Given the description of an element on the screen output the (x, y) to click on. 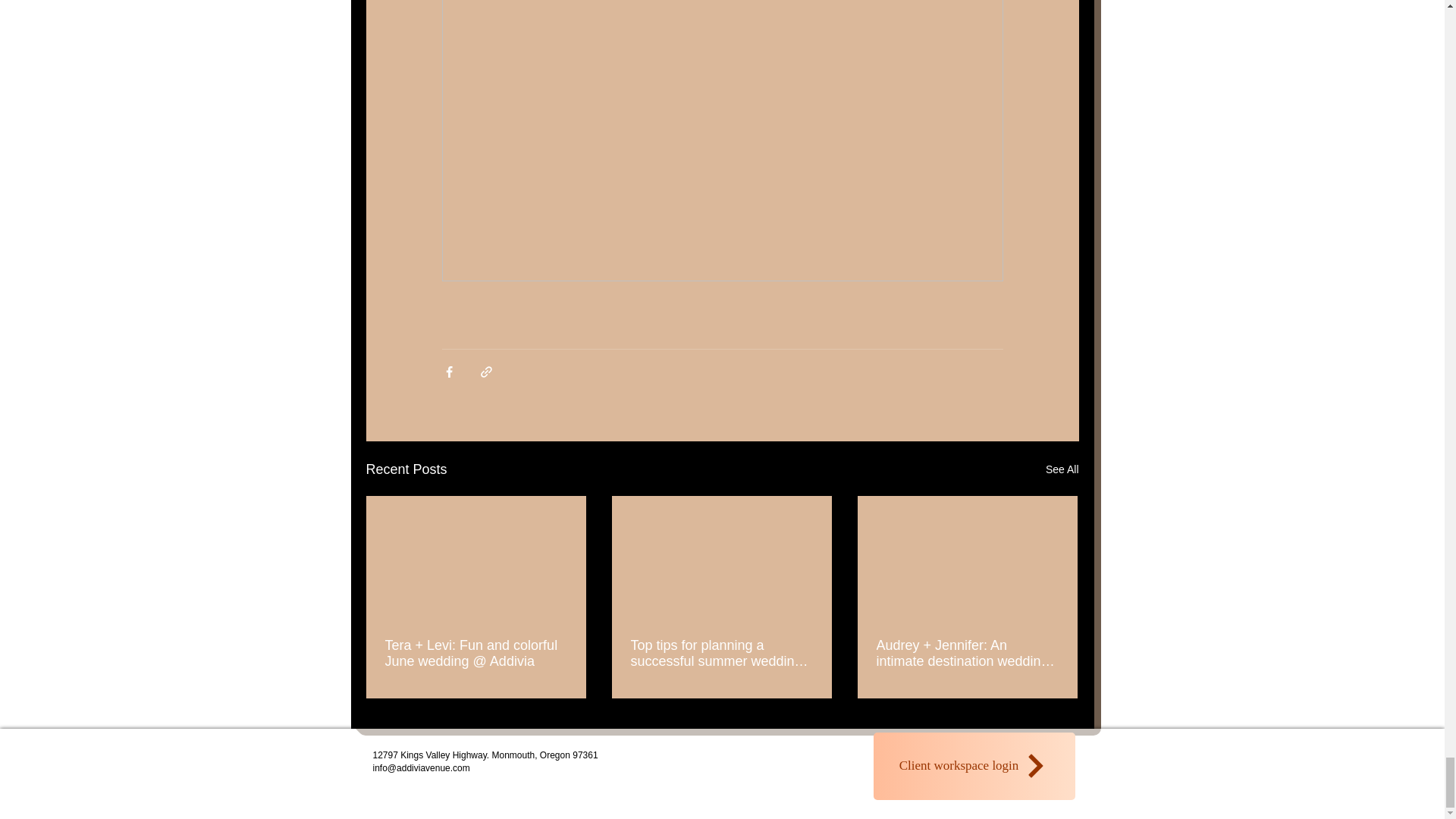
Top tips for planning a successful summer wedding in Oregon (721, 653)
Client workspace login (974, 766)
See All (1061, 469)
